Given the description of an element on the screen output the (x, y) to click on. 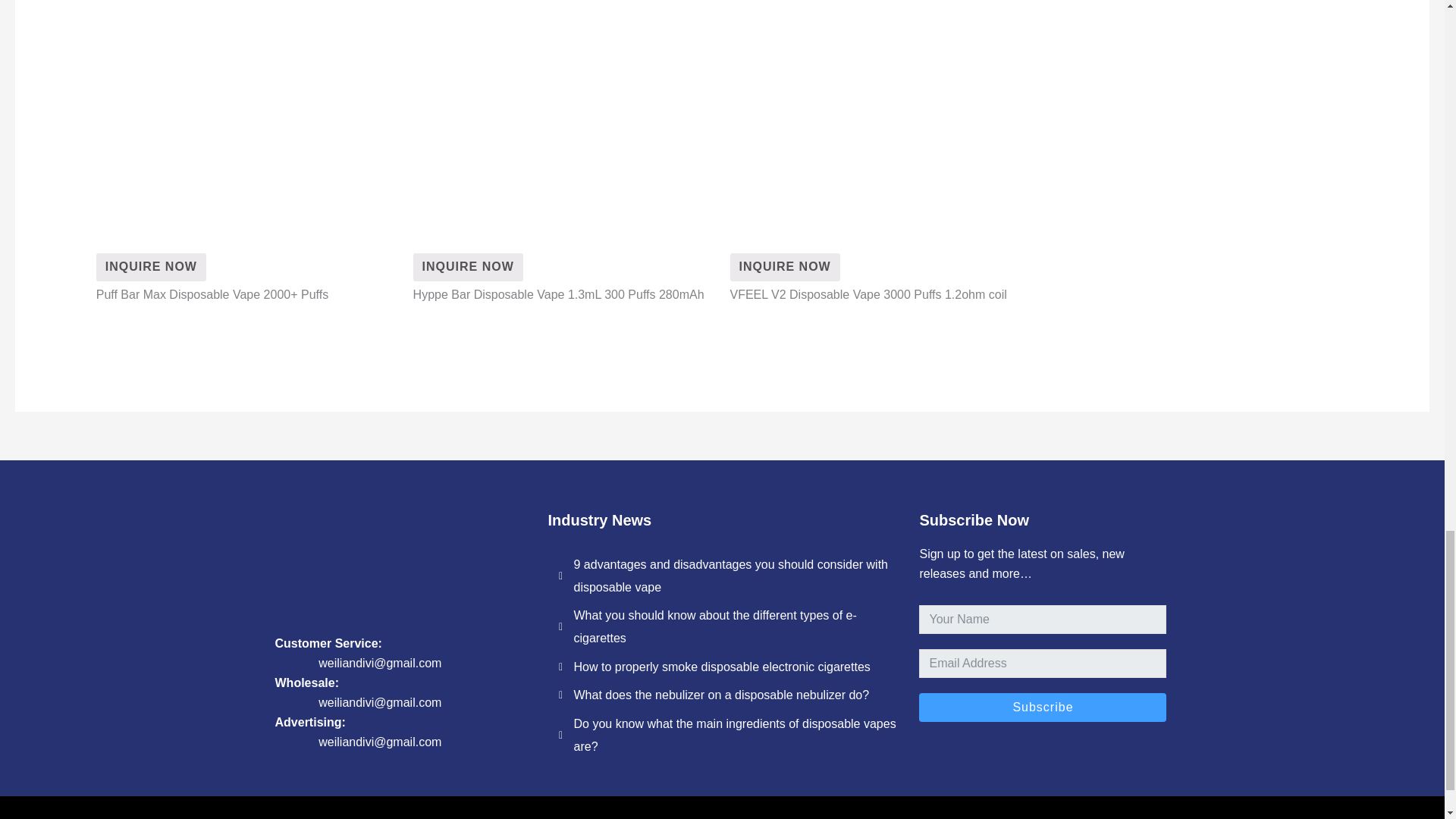
VFEEL V2 Disposable Vape 3000 Puffs 1.2ohm coil (784, 267)
Hyppe Bar Disposable Vape 1.3mL 300 Puffs 280mAh (467, 267)
